Given the description of an element on the screen output the (x, y) to click on. 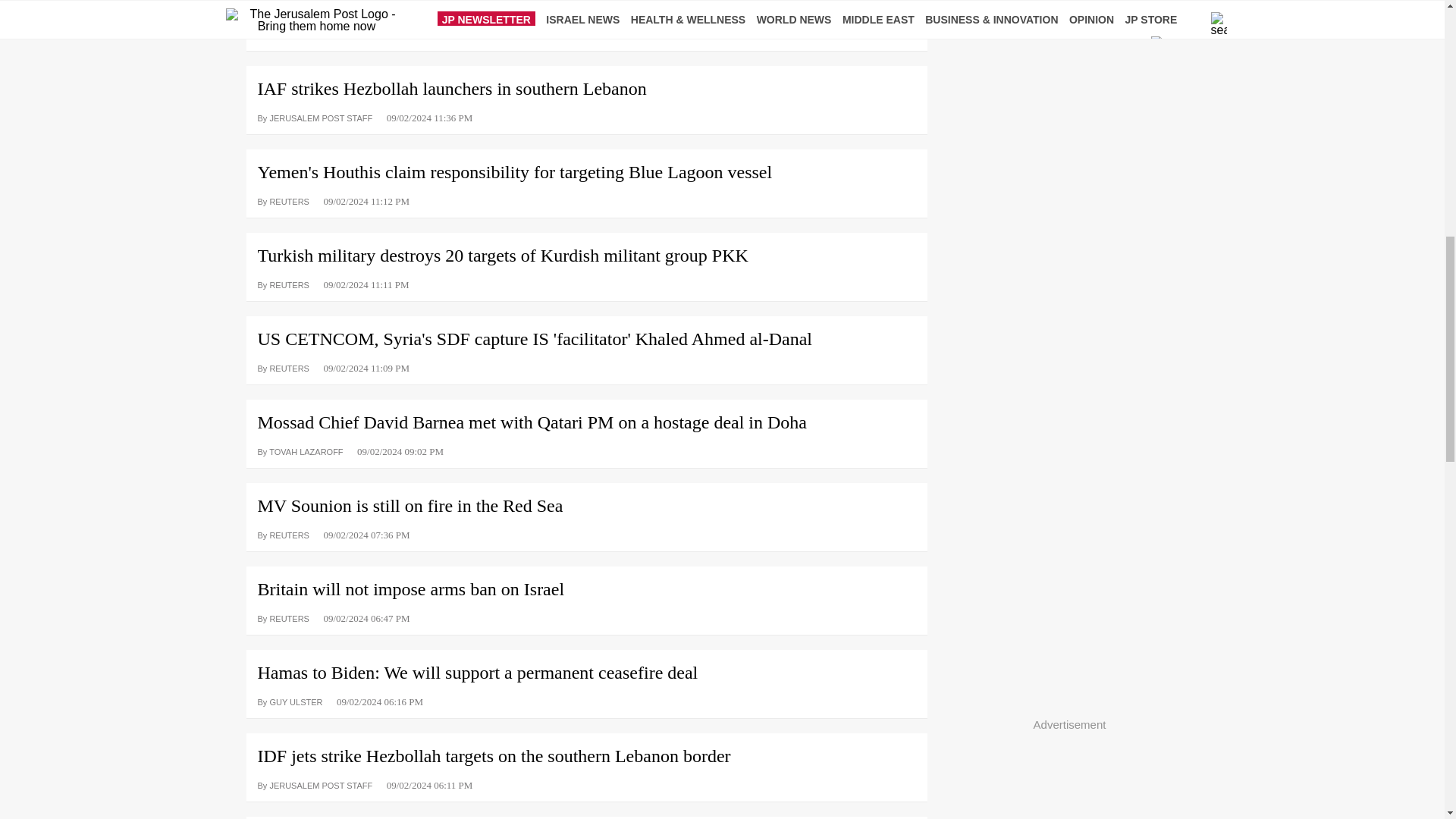
By JERUSALEM POST STAFF (314, 116)
IAF strikes terror cell in West Bank who fired at IDF troops (586, 8)
IAF strikes Hezbollah launchers in southern Lebanon (586, 82)
By JERUSALEM POST STAFF (314, 33)
IAF strikes Hezbollah launchers in southern Lebanon (586, 82)
IAF strikes terror cell in West Bank who fired at IDF troops (586, 8)
